Given the description of an element on the screen output the (x, y) to click on. 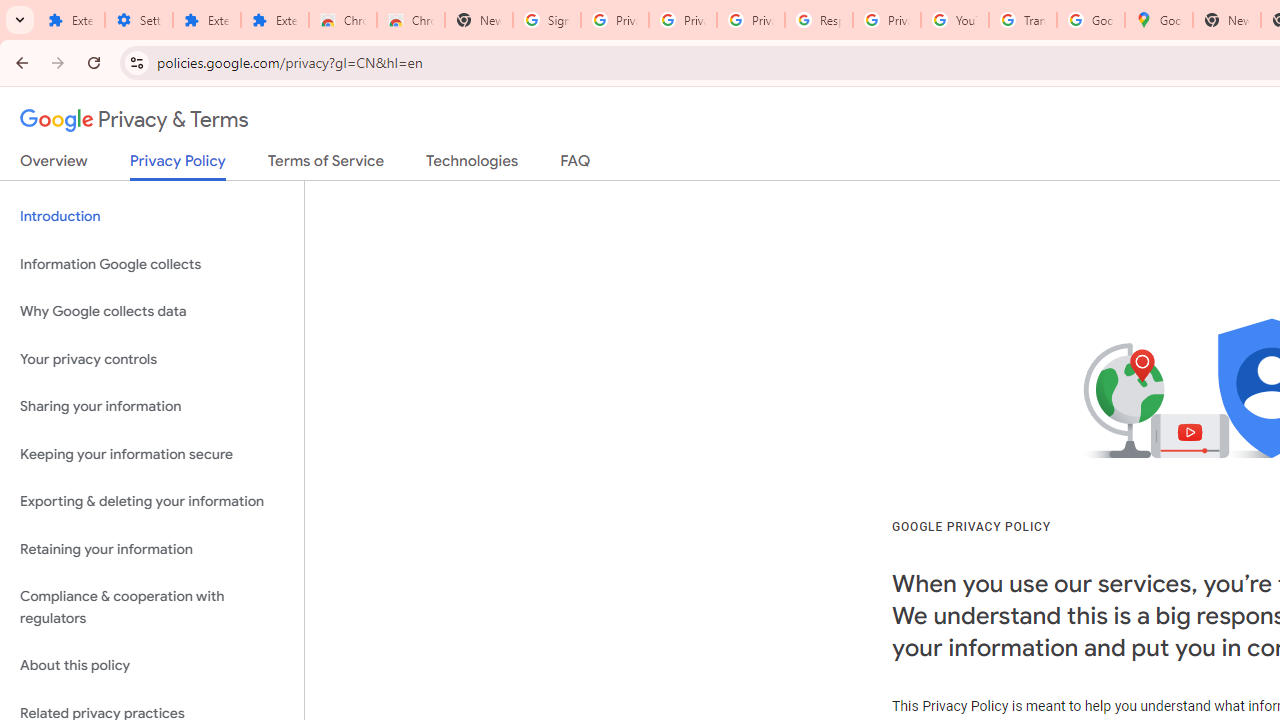
Extensions (206, 20)
New Tab (479, 20)
